Given the description of an element on the screen output the (x, y) to click on. 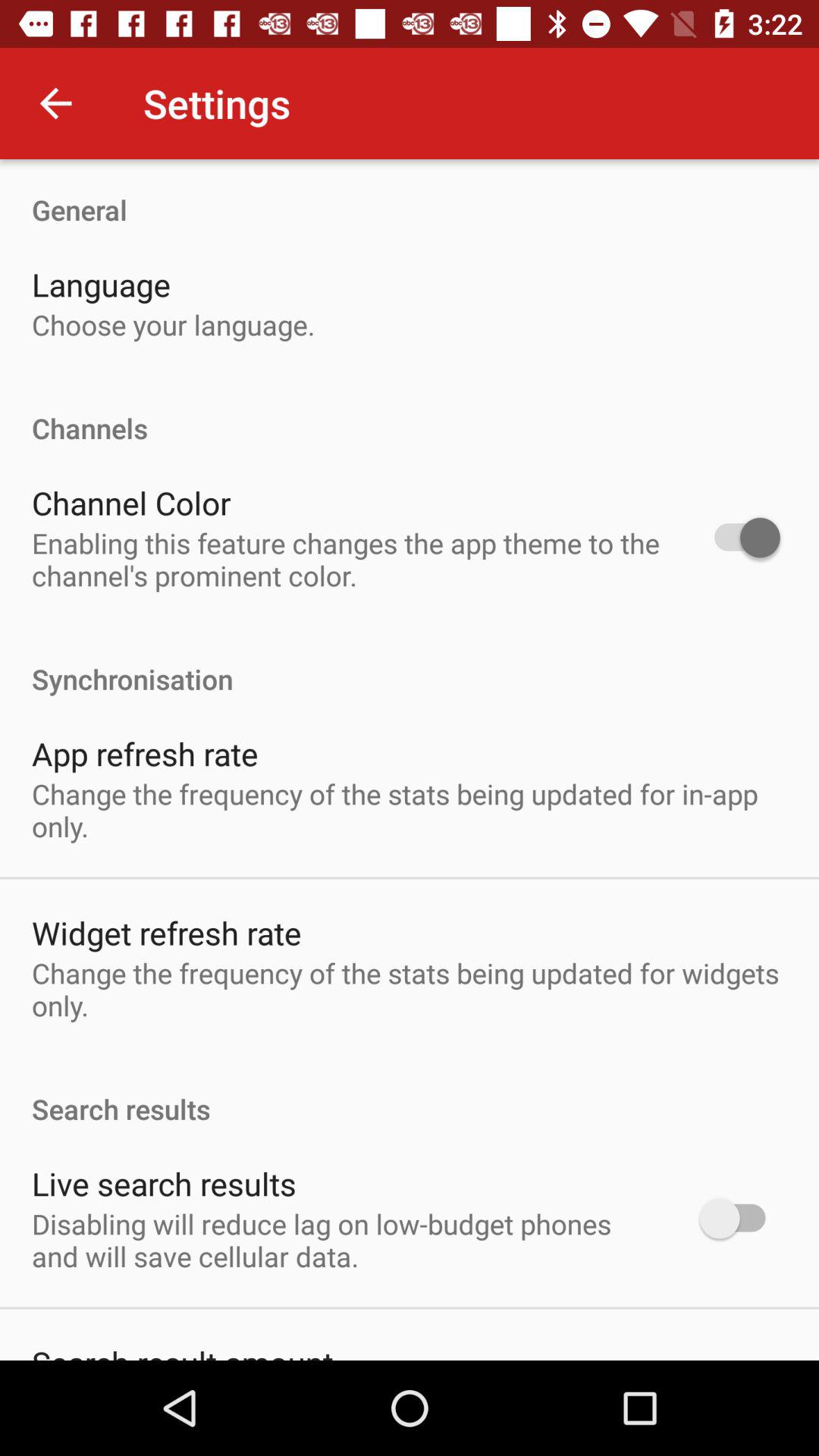
click synchronisation item (409, 662)
